Given the description of an element on the screen output the (x, y) to click on. 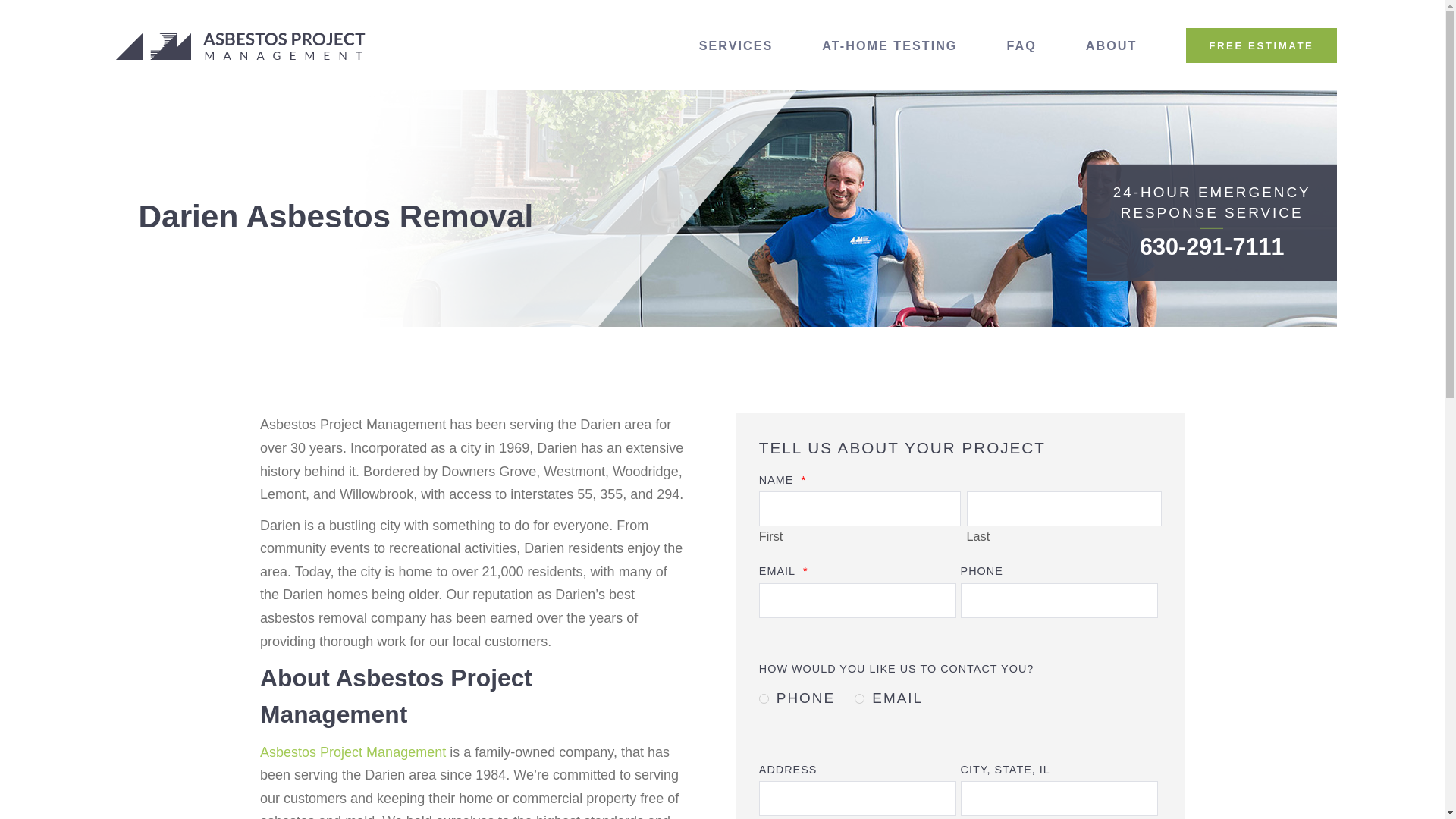
ABOUT (1111, 44)
Phone (763, 698)
FAQ (1021, 44)
Email (859, 698)
Asbestos Project Management (352, 752)
FREE ESTIMATE (1261, 45)
Asbestos Project Management (241, 45)
AT-HOME TESTING (889, 44)
SERVICES (736, 44)
